Given the description of an element on the screen output the (x, y) to click on. 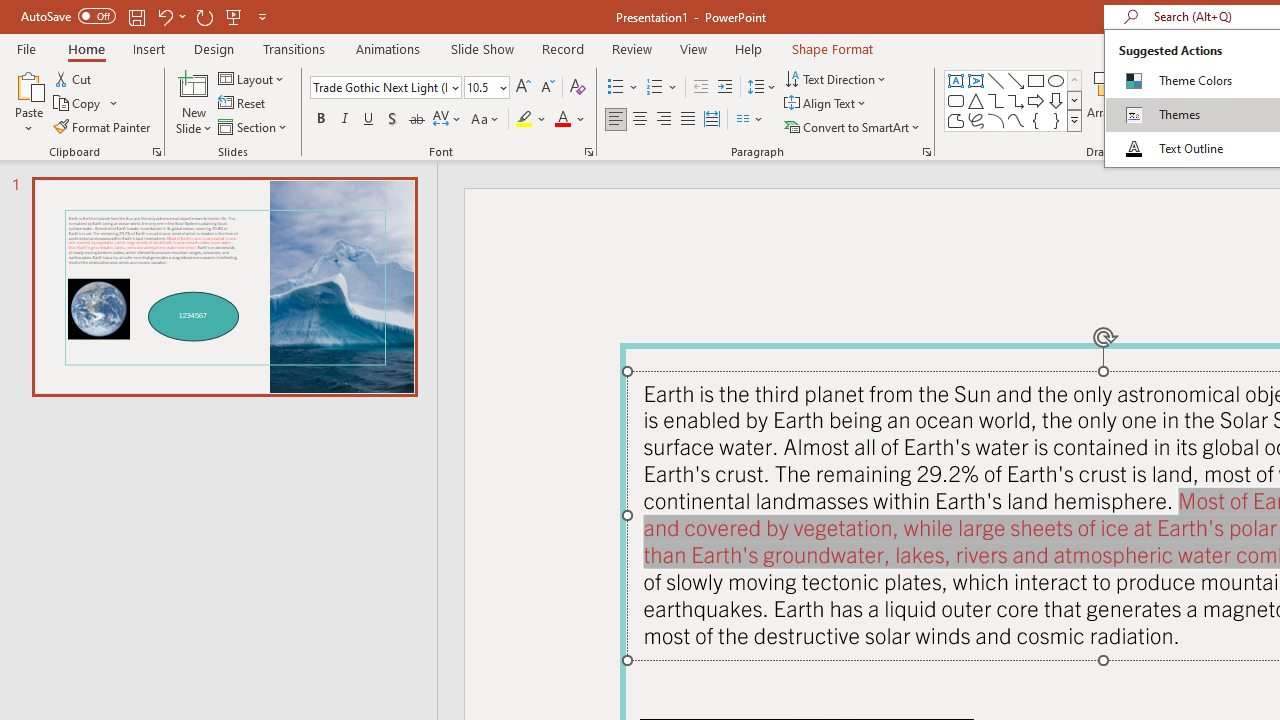
Arrange (1108, 102)
Right Brace (1055, 120)
Strikethrough (416, 119)
